Given the description of an element on the screen output the (x, y) to click on. 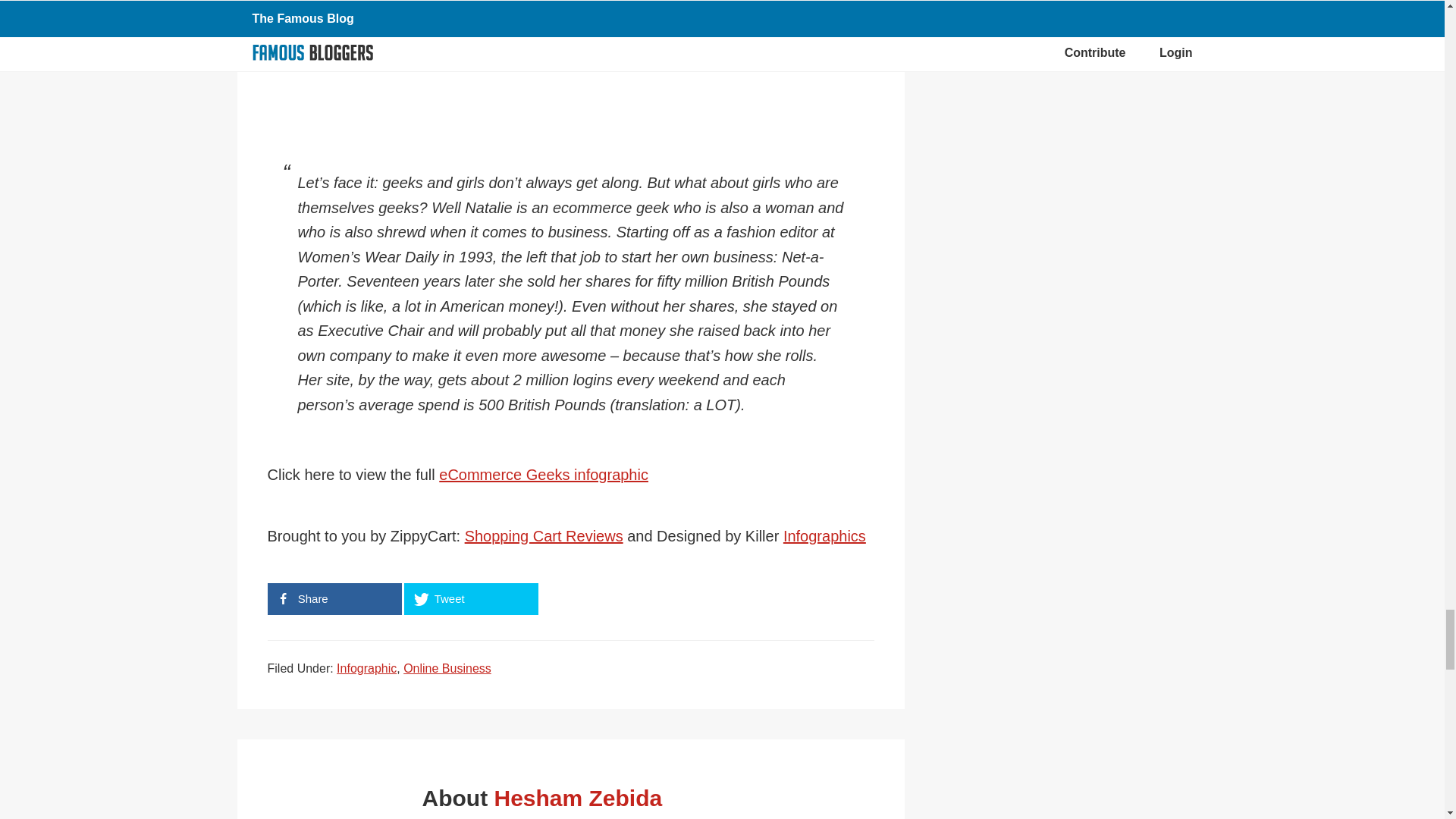
eCommerce Geeks infographic (543, 474)
Infographic (366, 667)
Online Business (447, 667)
Share (333, 599)
Tweet (470, 599)
Infographics (824, 535)
Shopping Cart Reviews (543, 535)
Hesham Zebida (577, 797)
